Given the description of an element on the screen output the (x, y) to click on. 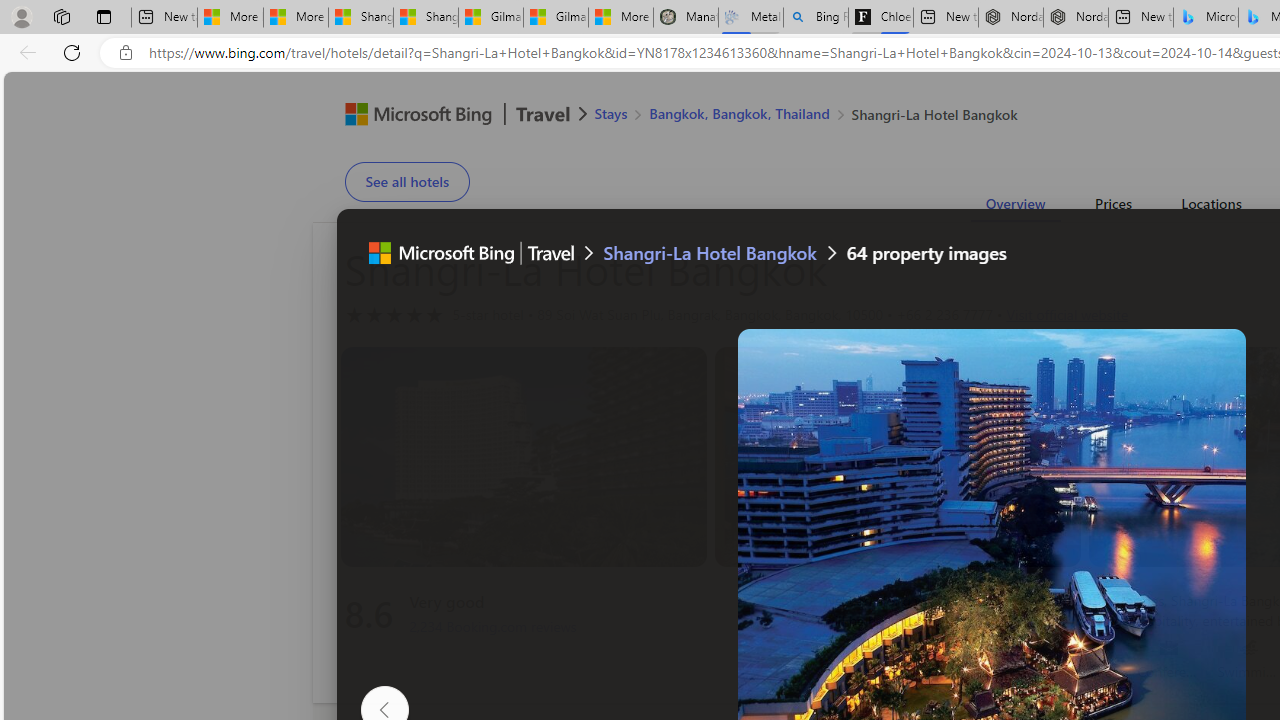
Nordace - #1 Japanese Best-Seller - Siena Smart Backpack (1076, 17)
